Given the description of an element on the screen output the (x, y) to click on. 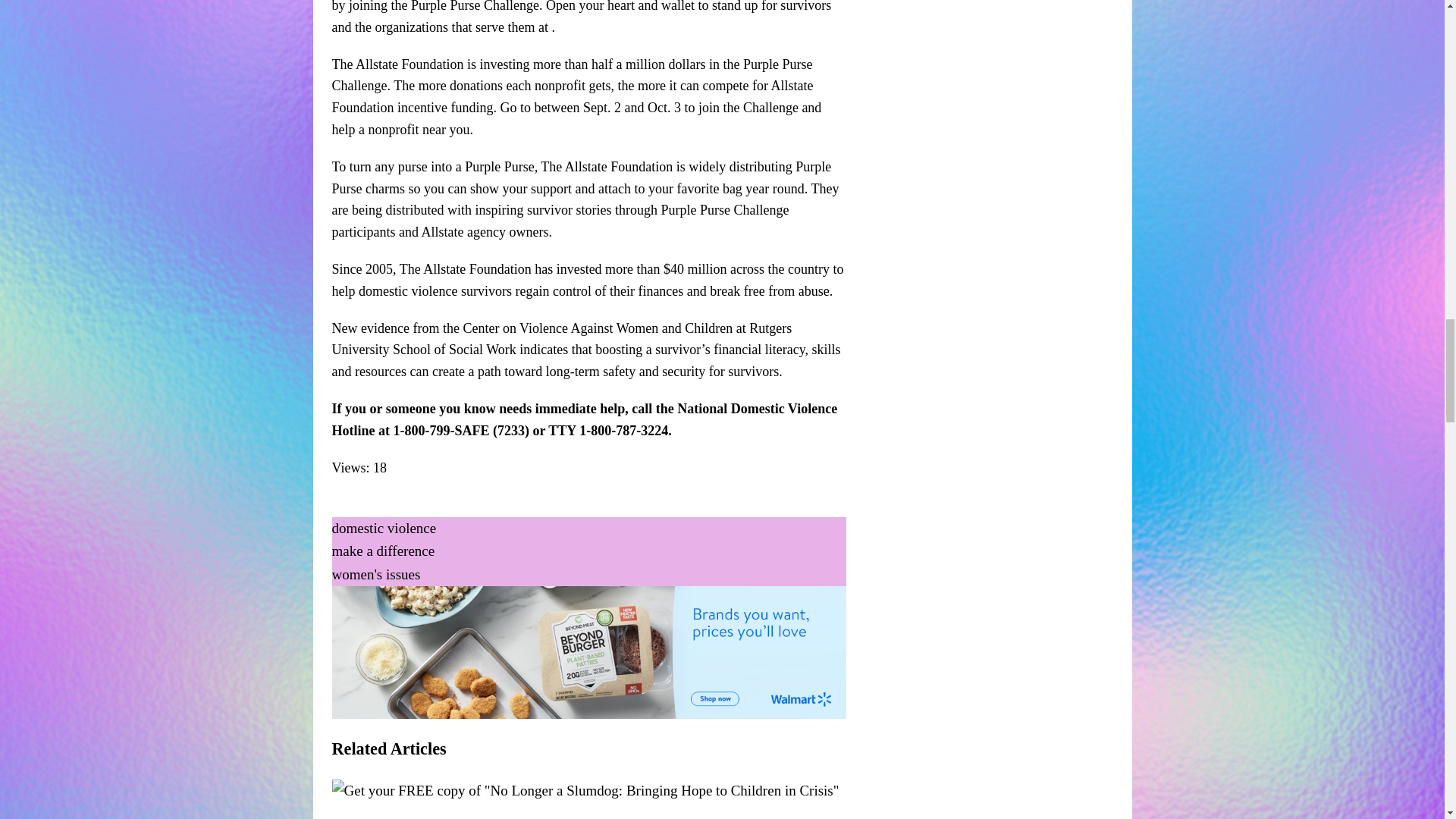
No Longer a Slumdog: Bringing Hope to Children in Crisis (585, 790)
women's issues (375, 574)
domestic violence (383, 528)
make a difference (383, 550)
